Given the description of an element on the screen output the (x, y) to click on. 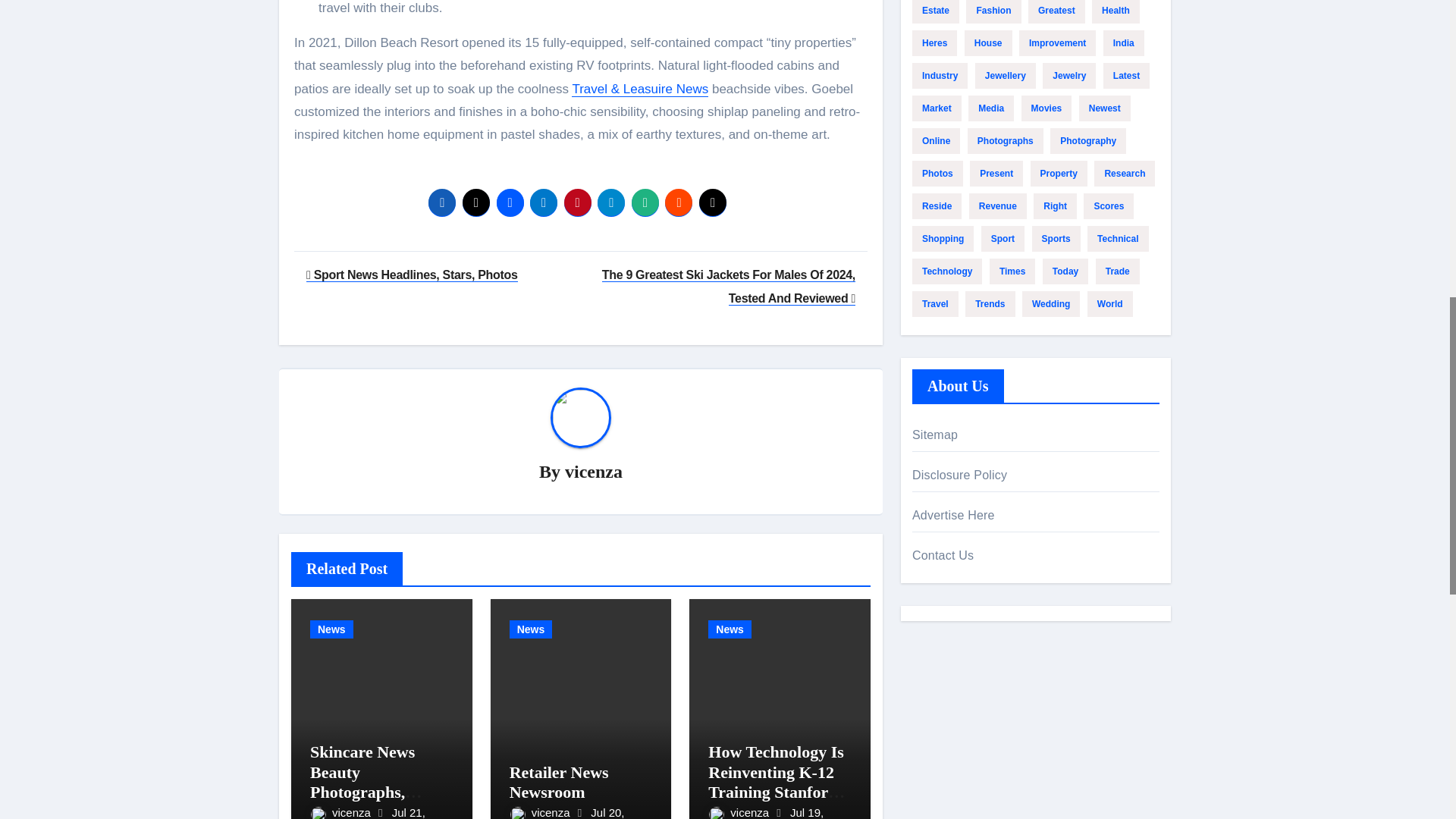
Permalink to: Retailer News Newsroom (558, 781)
